Given the description of an element on the screen output the (x, y) to click on. 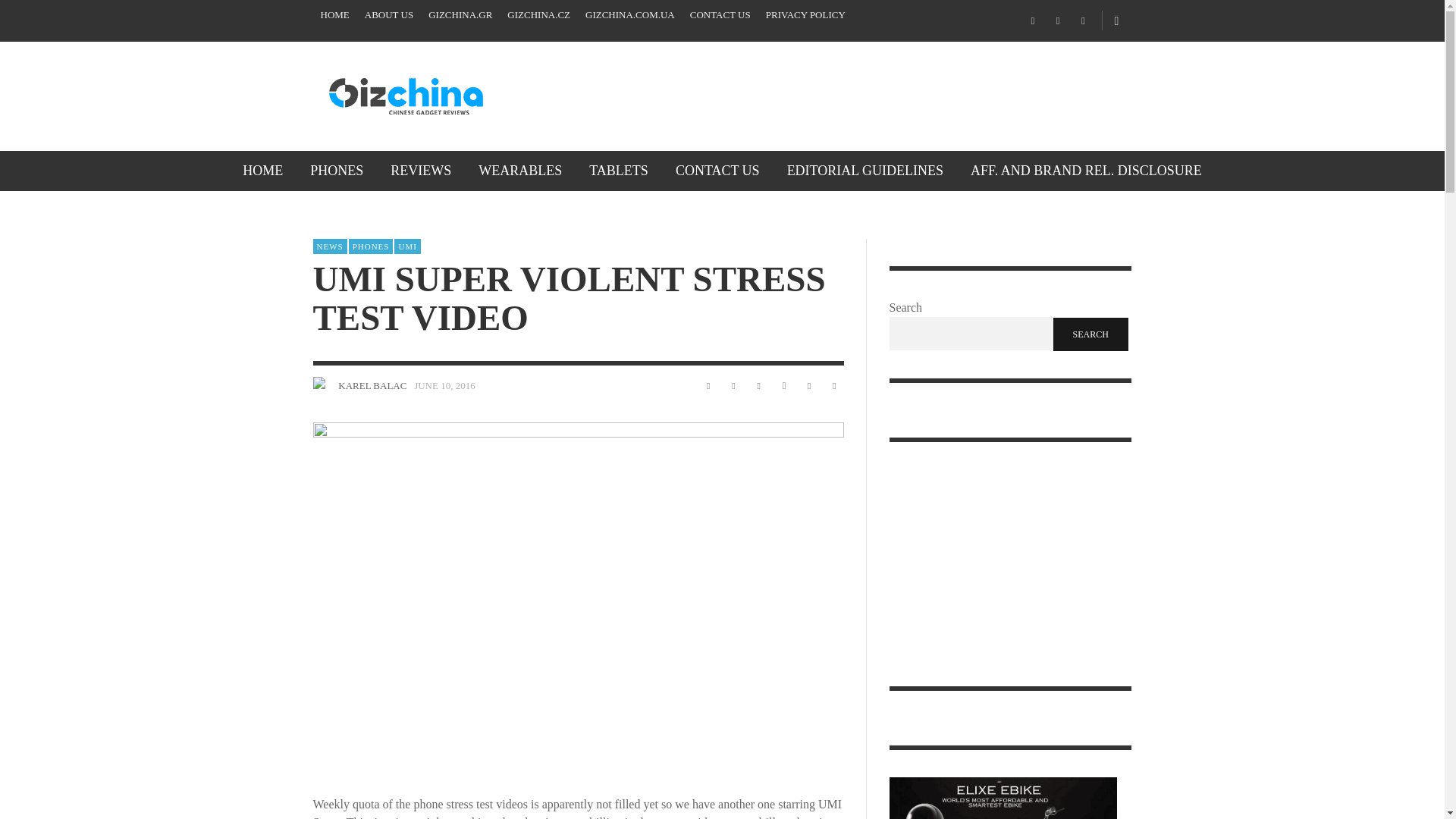
CONTACT US (720, 15)
ABOUT US (388, 15)
HOME (262, 170)
PRIVACY POLICY (805, 15)
REVIEWS (420, 170)
PHONES (337, 170)
HOME (334, 15)
GIZCHINA.COM.UA (630, 15)
GIZCHINA.CZ (538, 15)
GIZCHINA.GR (459, 15)
